Given the description of an element on the screen output the (x, y) to click on. 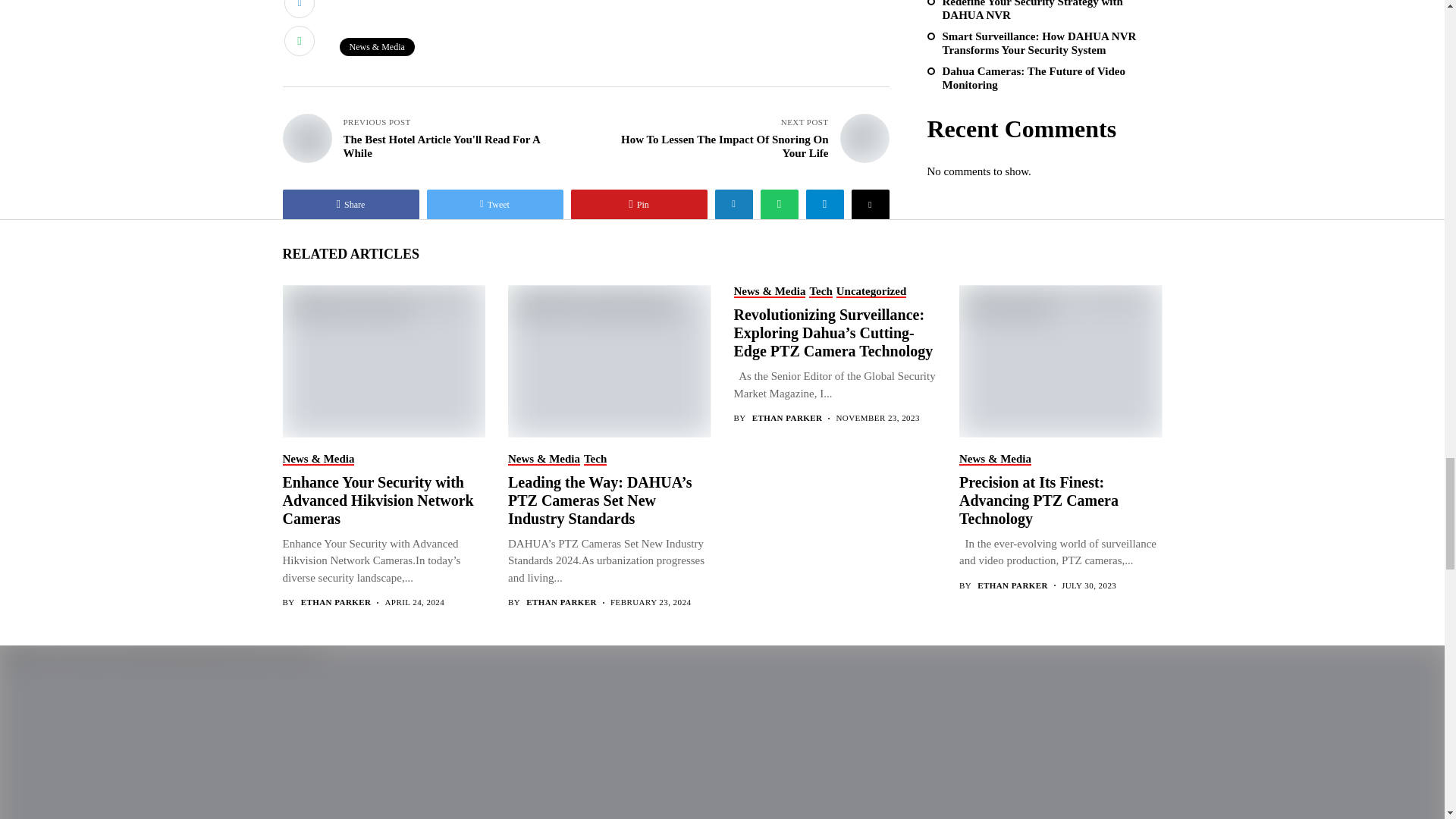
Posts by Ethan Parker (1012, 585)
Posts by Ethan Parker (336, 602)
Posts by Ethan Parker (787, 418)
Posts by Ethan Parker (560, 602)
Precision at Its Finest: Advancing PTZ Camera Technology (1059, 360)
How To Lessen The Impact Of Snoring On Your Life (864, 137)
